Given the description of an element on the screen output the (x, y) to click on. 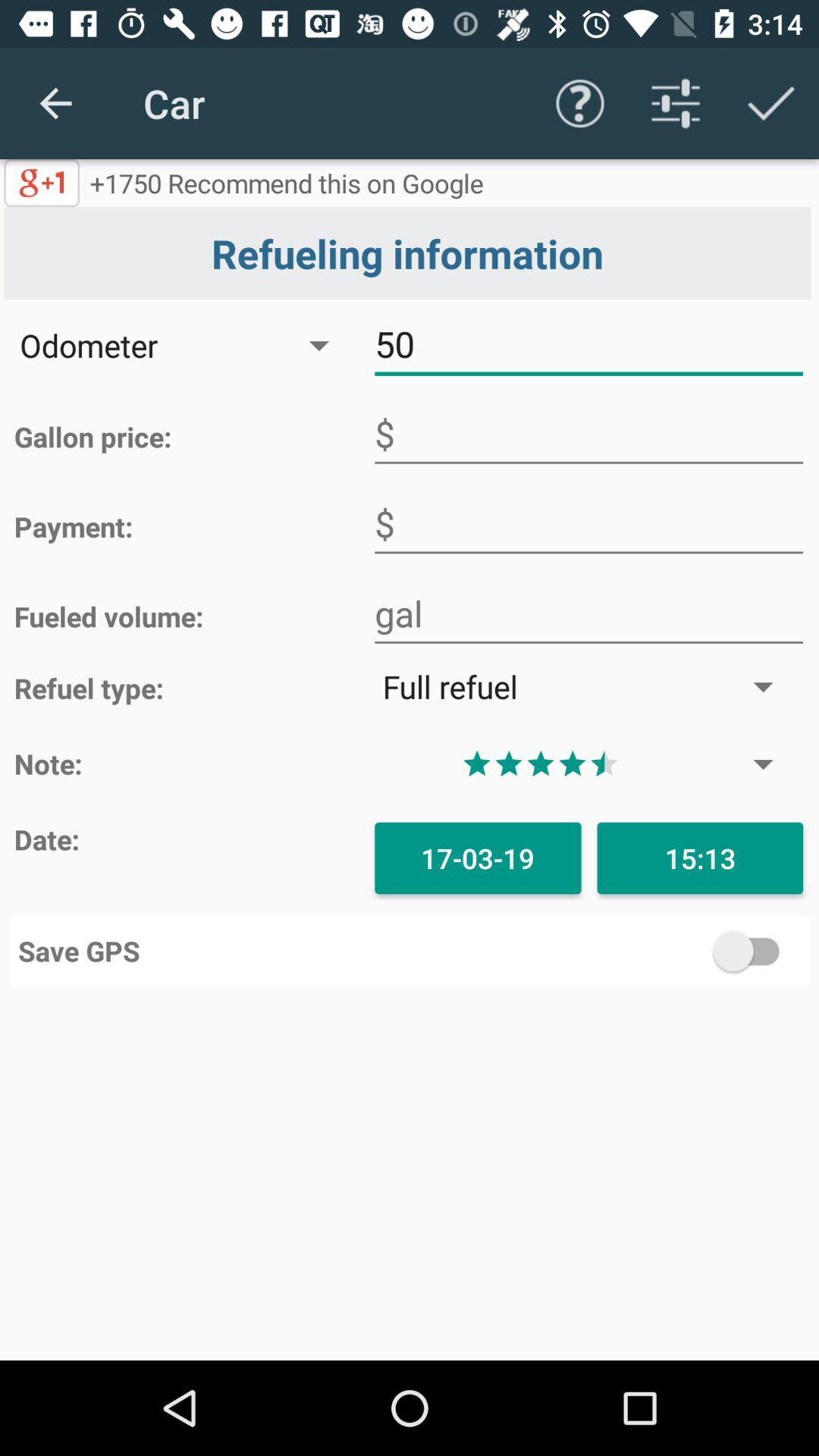
input gallon price (588, 434)
